Given the description of an element on the screen output the (x, y) to click on. 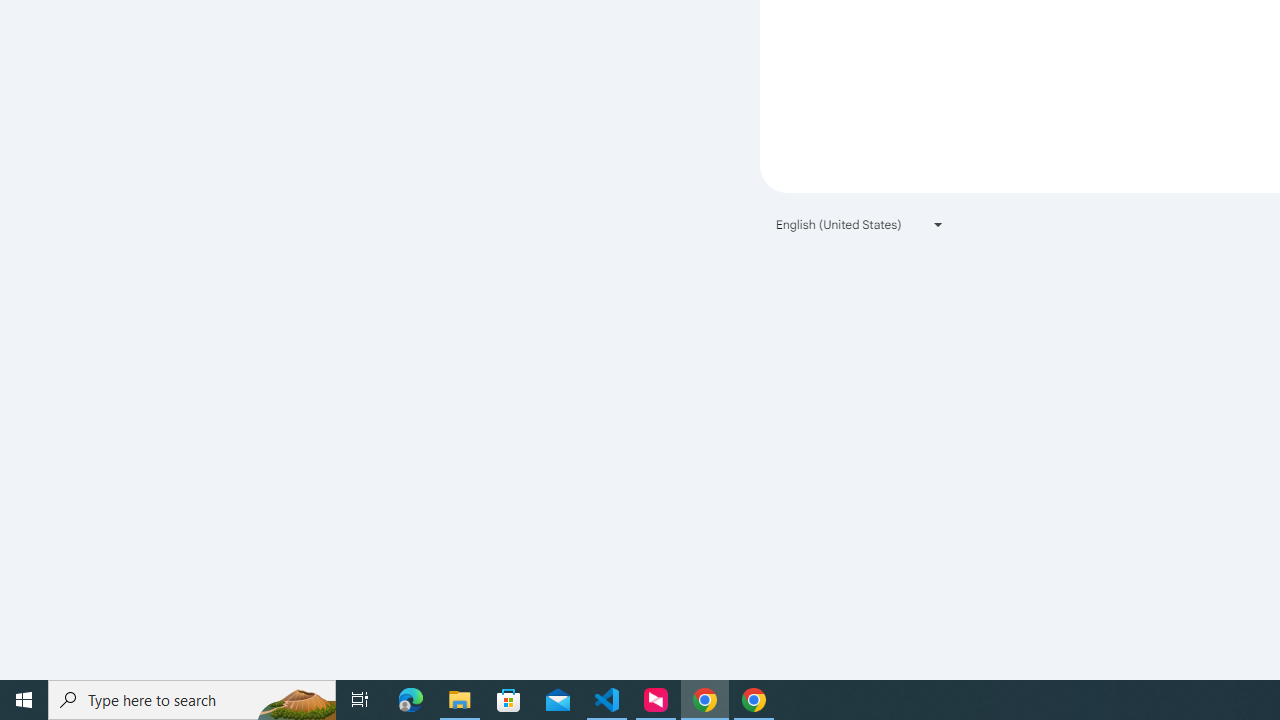
English (United States) (860, 224)
